Given the description of an element on the screen output the (x, y) to click on. 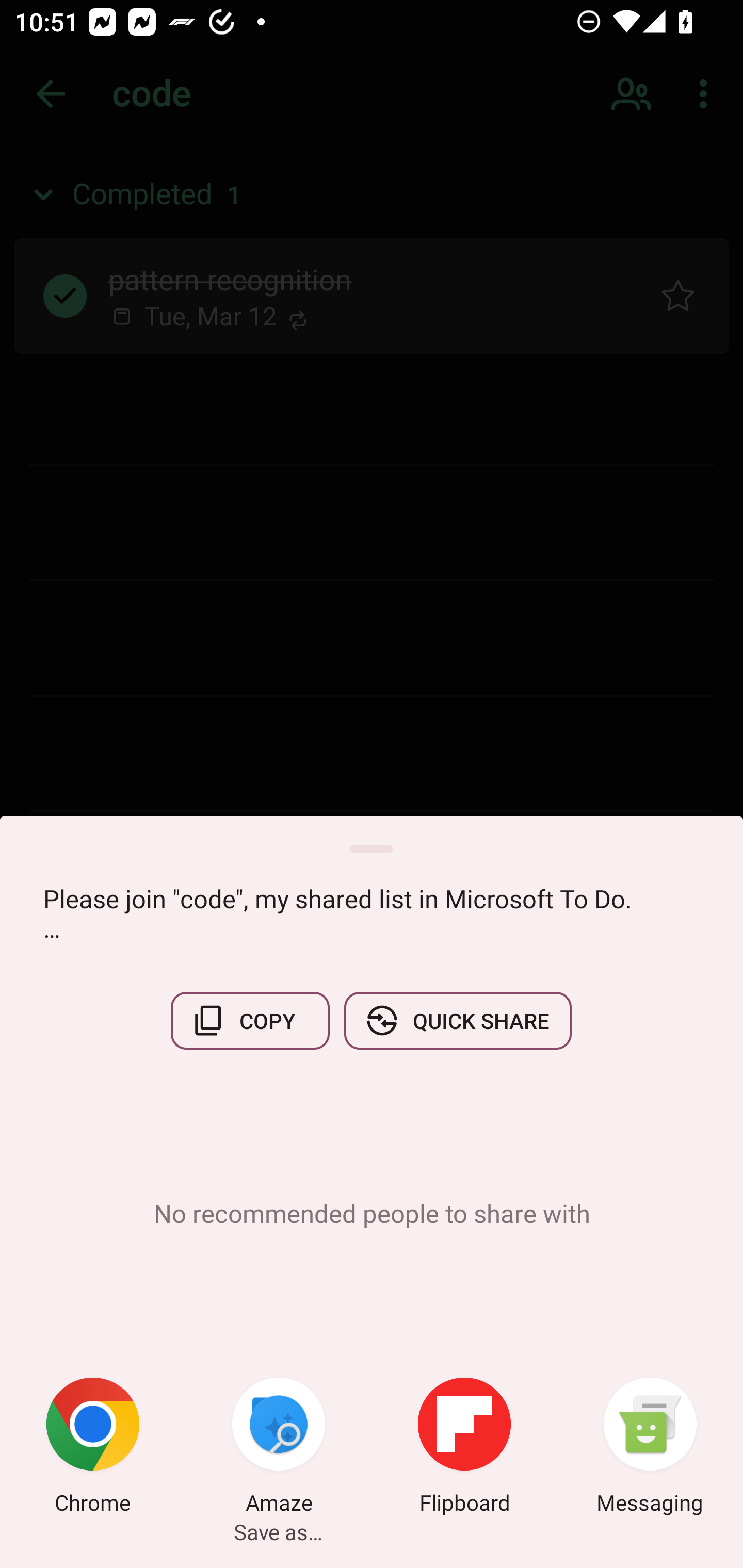
COPY (249, 1020)
QUICK SHARE (457, 1020)
Chrome (92, 1448)
Amaze Save as… (278, 1448)
Flipboard (464, 1448)
Messaging (650, 1448)
